Given the description of an element on the screen output the (x, y) to click on. 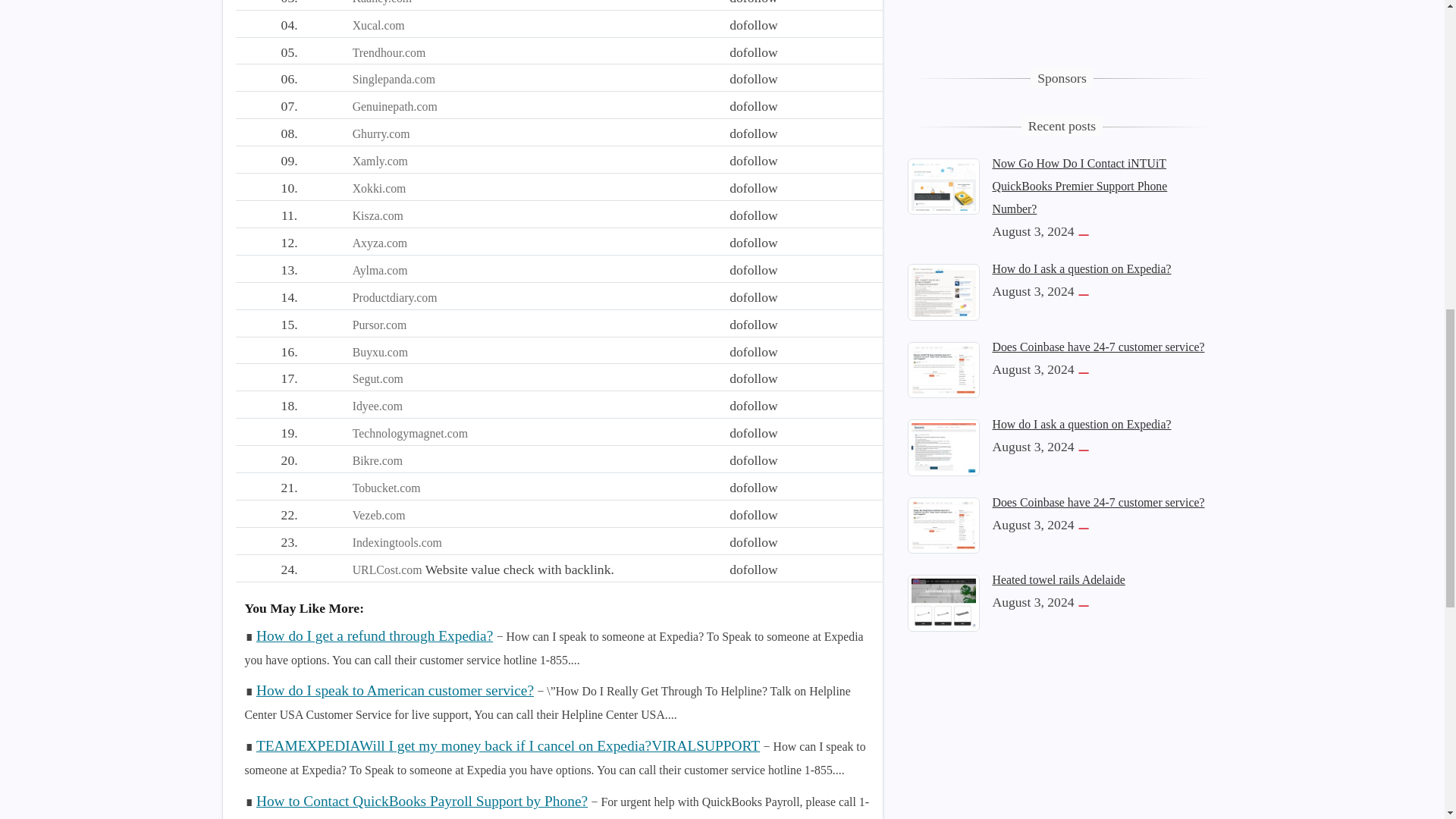
URLCost.com (387, 569)
Xamly.com (379, 160)
How do I speak to American customer service? (395, 690)
Technologymagnet.com (409, 432)
Genuinepath.com (395, 106)
Bikre.com (377, 460)
Pursor.com (379, 324)
How to Contact QuickBooks Payroll Support by Phone? (422, 801)
Aylma.com (379, 269)
Tobucket.com (386, 487)
